Given the description of an element on the screen output the (x, y) to click on. 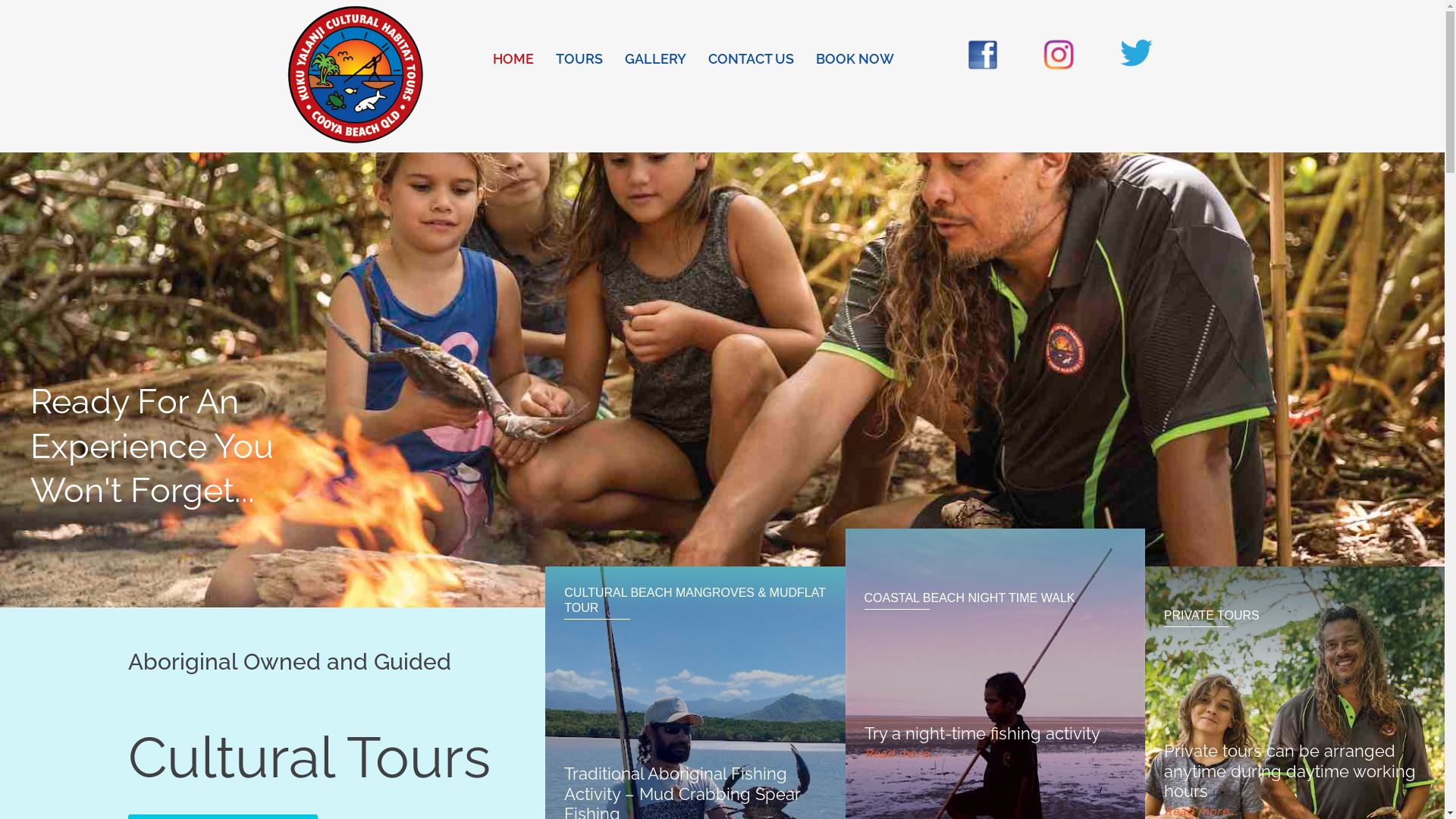
Read more... Element type: text (1200, 810)
instagram Element type: hover (1058, 54)
twitter Element type: hover (1136, 52)
Logo_KYCHT_small Element type: hover (354, 75)
BOOK NOW Element type: text (854, 58)
GALLERY Element type: text (655, 58)
CONTACT US Element type: text (750, 58)
facebook Element type: hover (982, 54)
TOURS Element type: text (579, 58)
Read more... Element type: text (901, 753)
HOME Element type: text (513, 58)
